Given the description of an element on the screen output the (x, y) to click on. 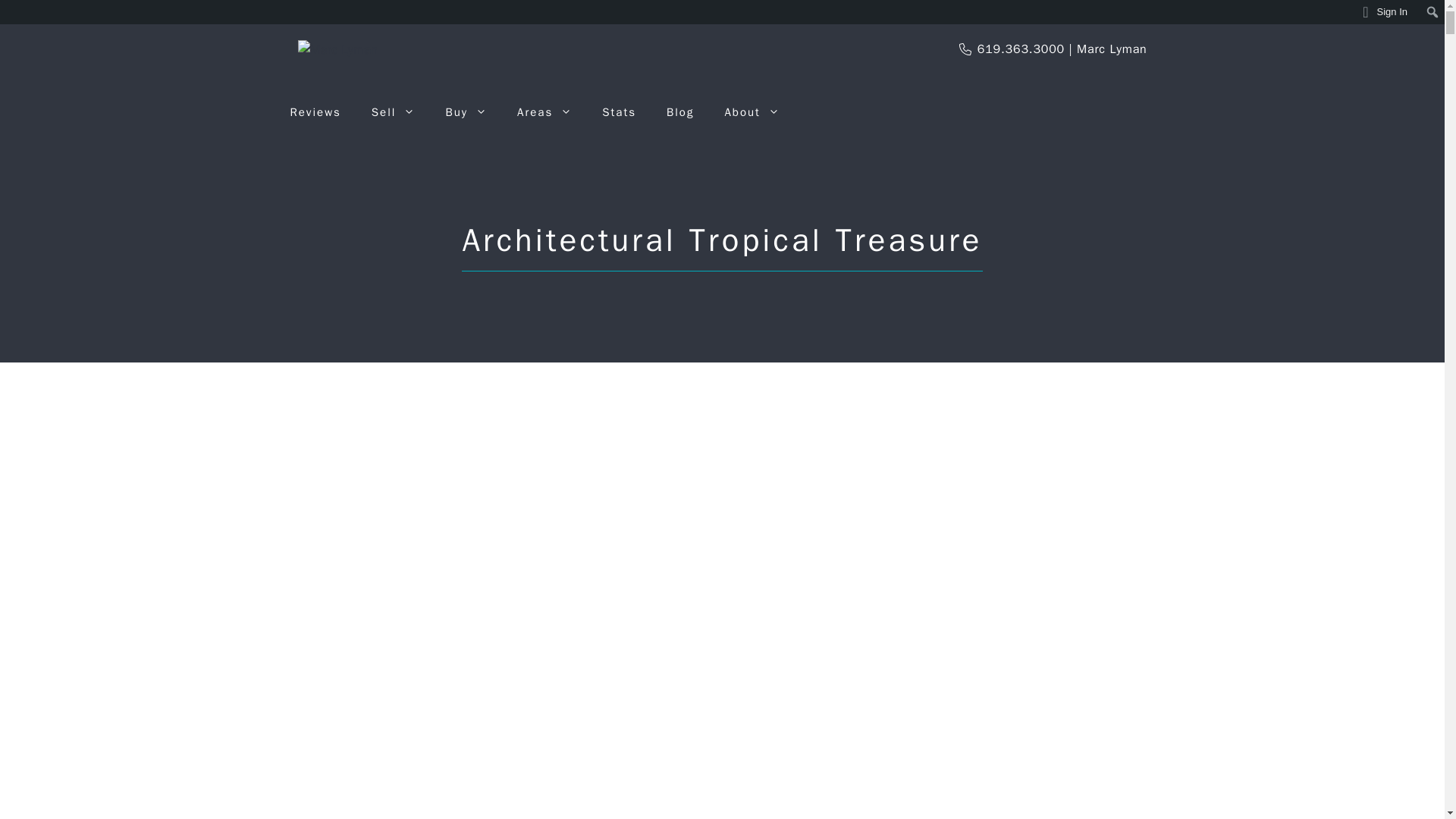
About (751, 112)
Buy (465, 112)
Blog (679, 112)
Search (16, 12)
Sell (393, 112)
Sign In (1384, 12)
Sign In (1384, 12)
Reviews (315, 112)
Areas (544, 112)
Stats (618, 112)
